Given the description of an element on the screen output the (x, y) to click on. 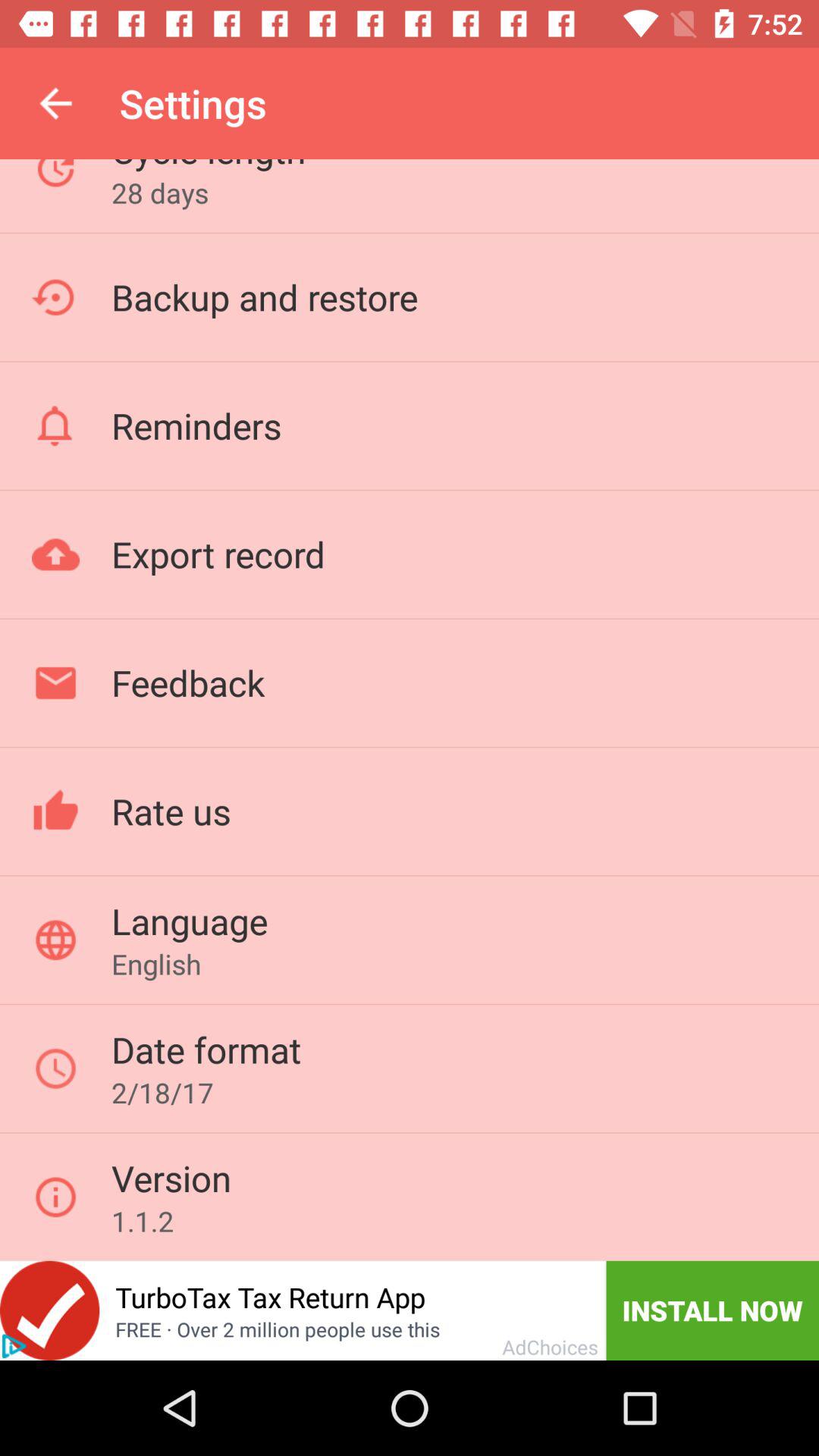
swipe until the export record icon (218, 554)
